Given the description of an element on the screen output the (x, y) to click on. 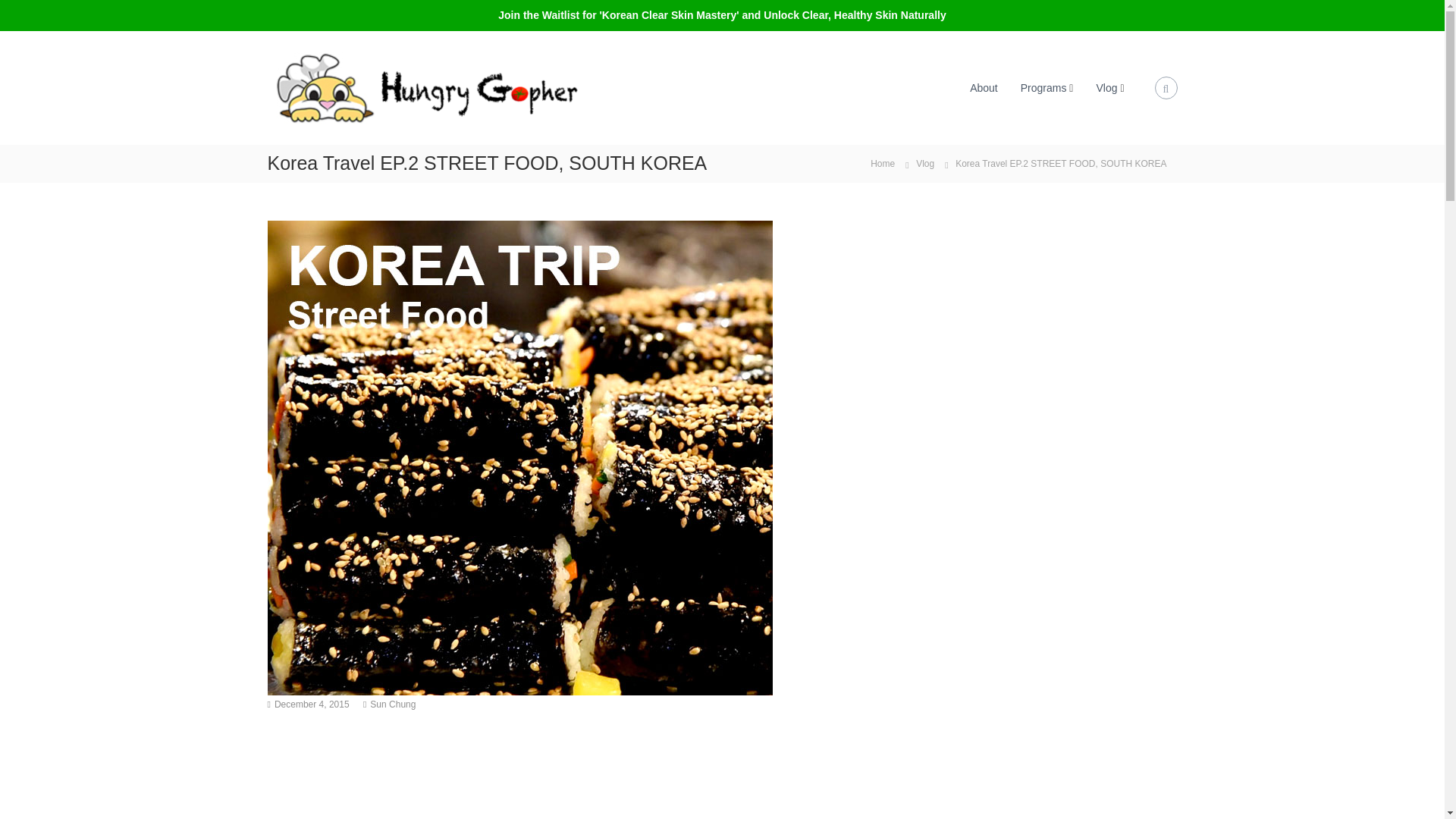
Vlog (924, 163)
Home (882, 162)
December 4, 2015 (312, 704)
About (983, 87)
Home (882, 162)
Programs (1043, 87)
Sun Chung (391, 704)
Vlog (1106, 87)
